Given the description of an element on the screen output the (x, y) to click on. 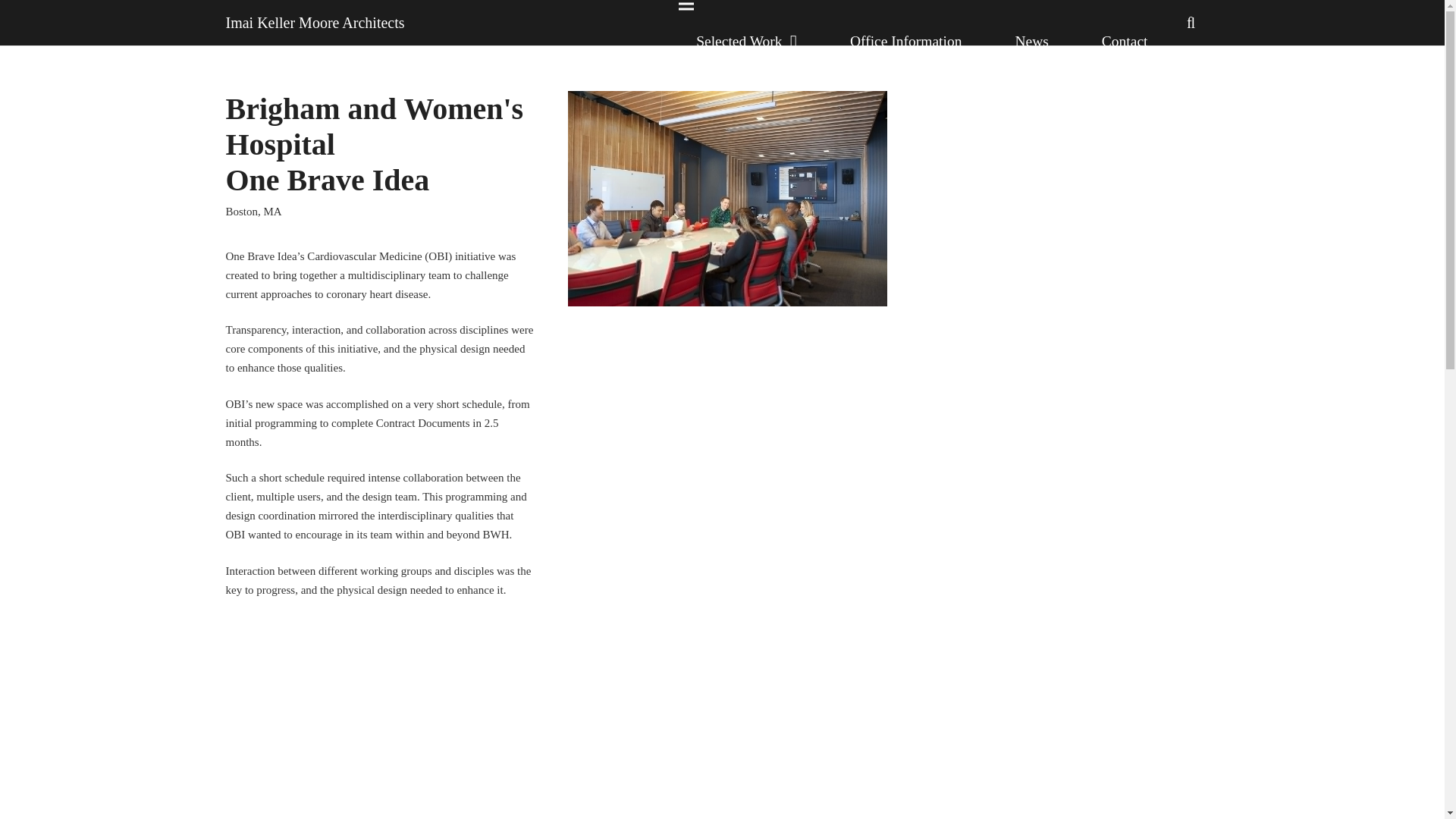
Office Information (906, 41)
Imai Keller Moore Architects (314, 22)
Selected Work (746, 41)
News (1031, 41)
Contact (1124, 41)
